Given the description of an element on the screen output the (x, y) to click on. 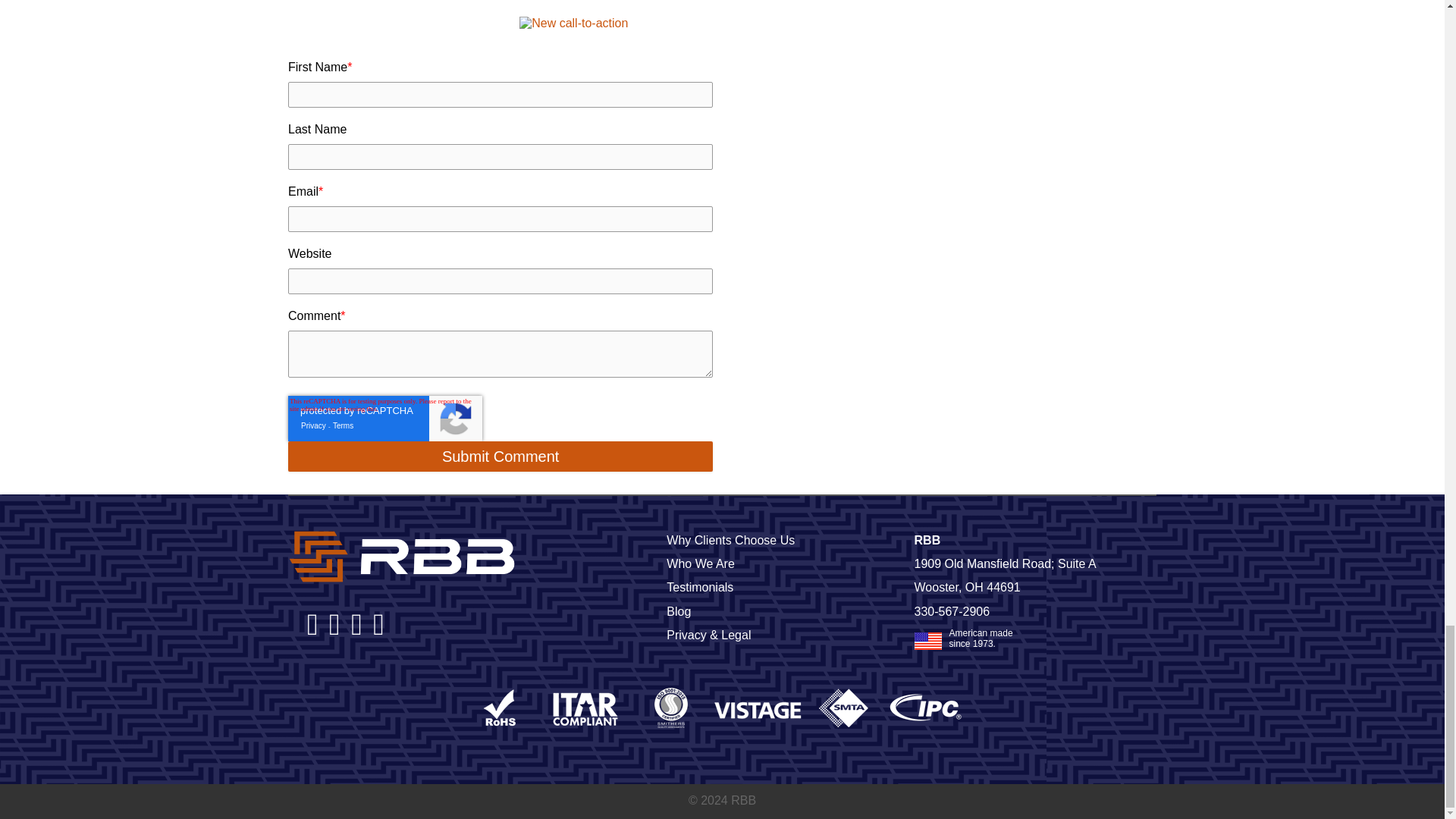
reCAPTCHA (384, 418)
Submit Comment (500, 456)
footerCerts2018.png (721, 707)
